Given the description of an element on the screen output the (x, y) to click on. 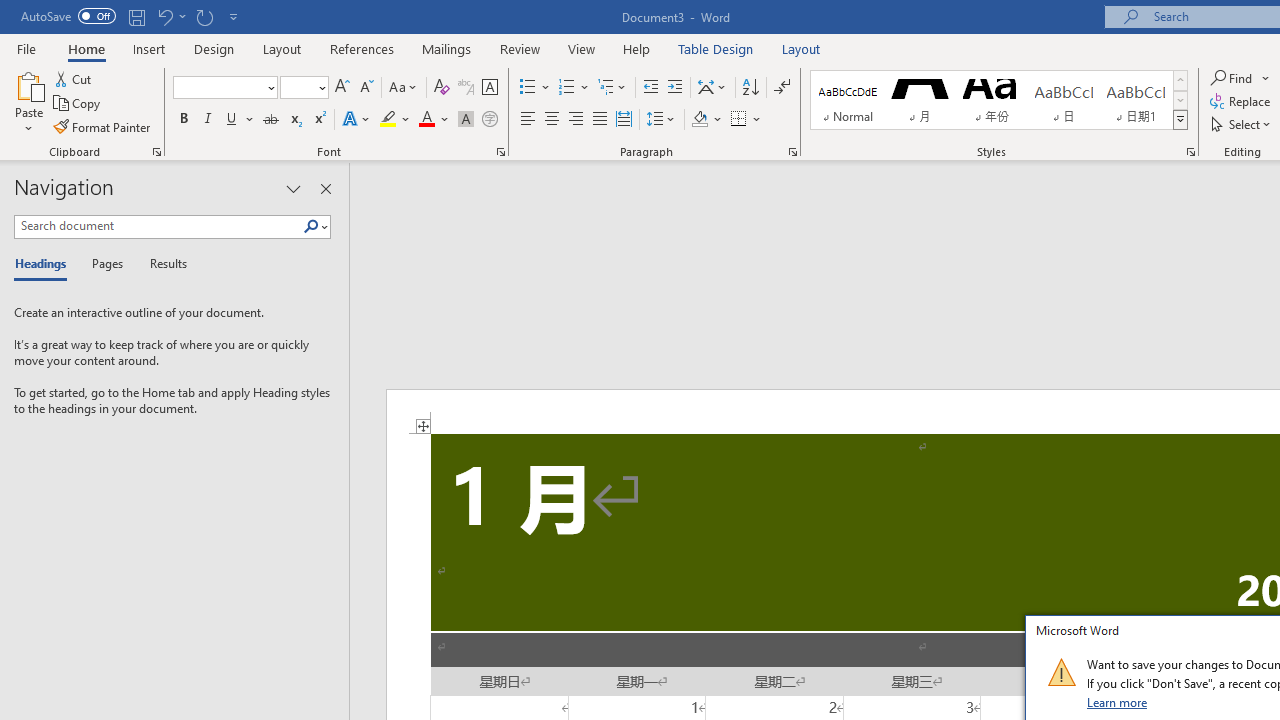
Row up (1179, 79)
Layout (801, 48)
Close pane (325, 188)
Undo Apply Quick Style (164, 15)
Open (320, 87)
Font... (500, 151)
Cut (73, 78)
Font Color (434, 119)
